Given the description of an element on the screen output the (x, y) to click on. 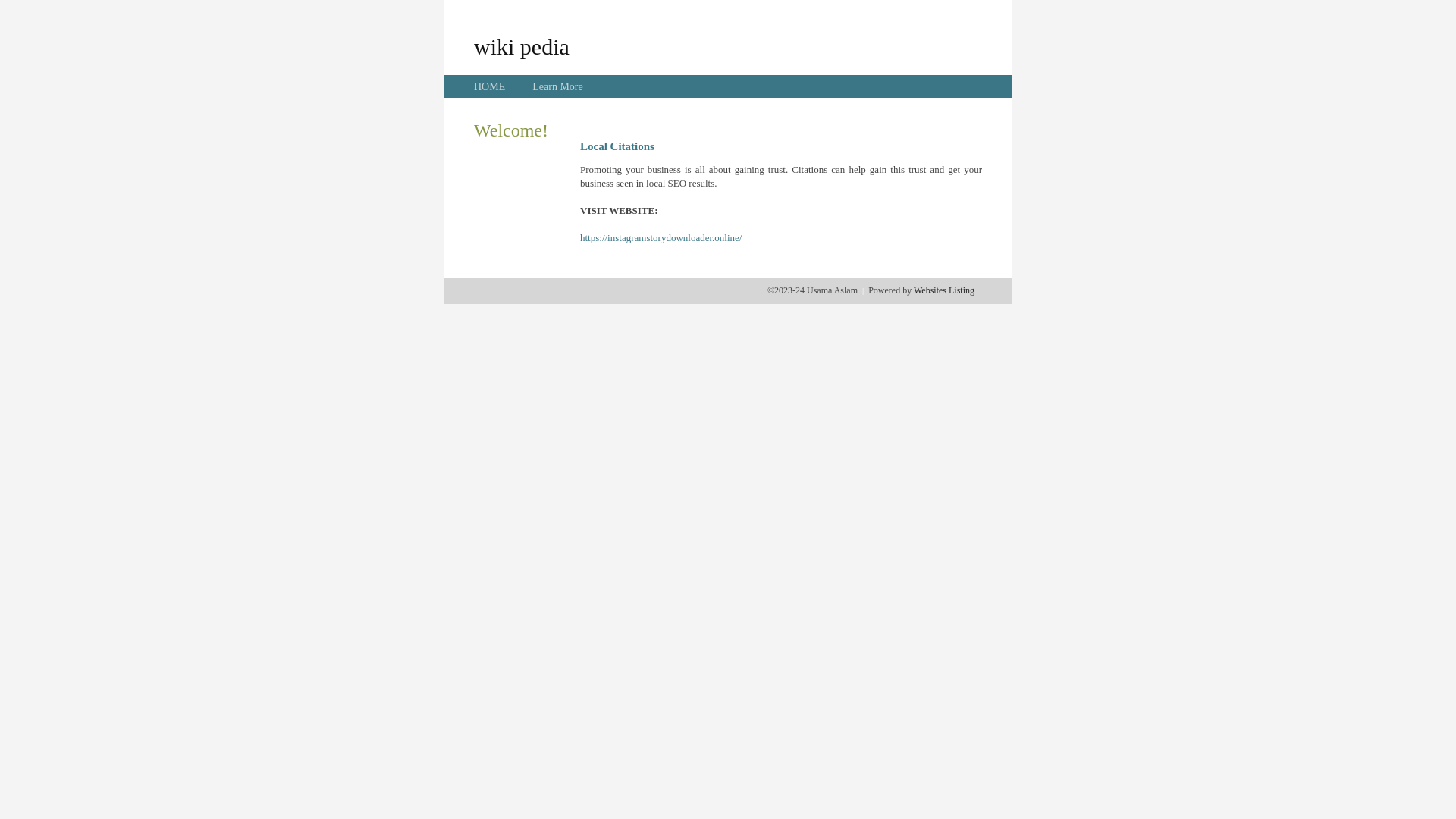
HOME Element type: text (489, 86)
wiki pedia Element type: text (521, 46)
https://instagramstorydownloader.online/ Element type: text (660, 237)
Websites Listing Element type: text (943, 290)
Learn More Element type: text (557, 86)
